Given the description of an element on the screen output the (x, y) to click on. 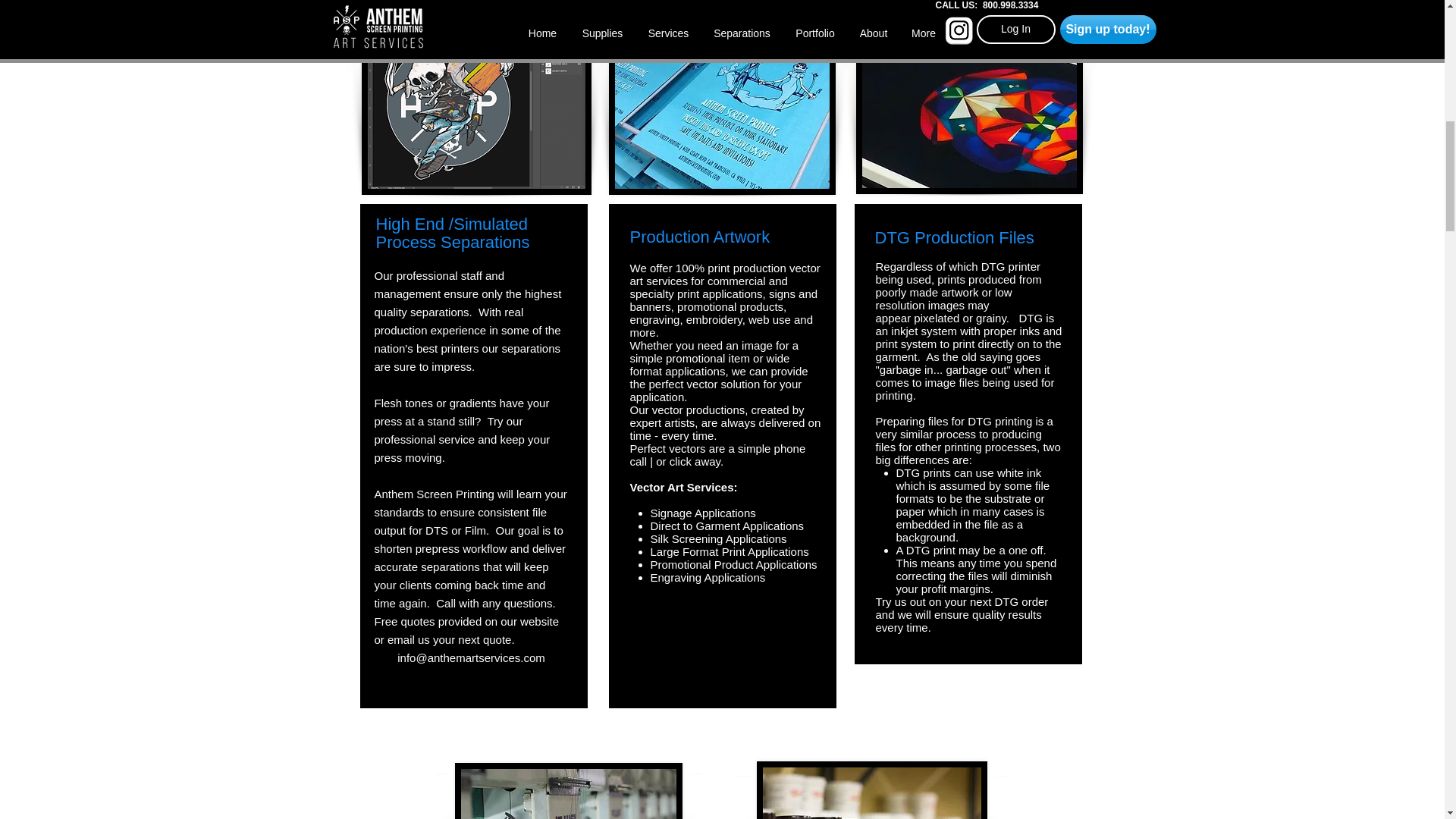
Signage Applications (702, 512)
Direct to Garment Applications (727, 525)
Engraving Applications (707, 576)
Large Format Print Applications (729, 551)
Promotional Product Applications (733, 563)
Silk Screening Applications (718, 538)
